Given the description of an element on the screen output the (x, y) to click on. 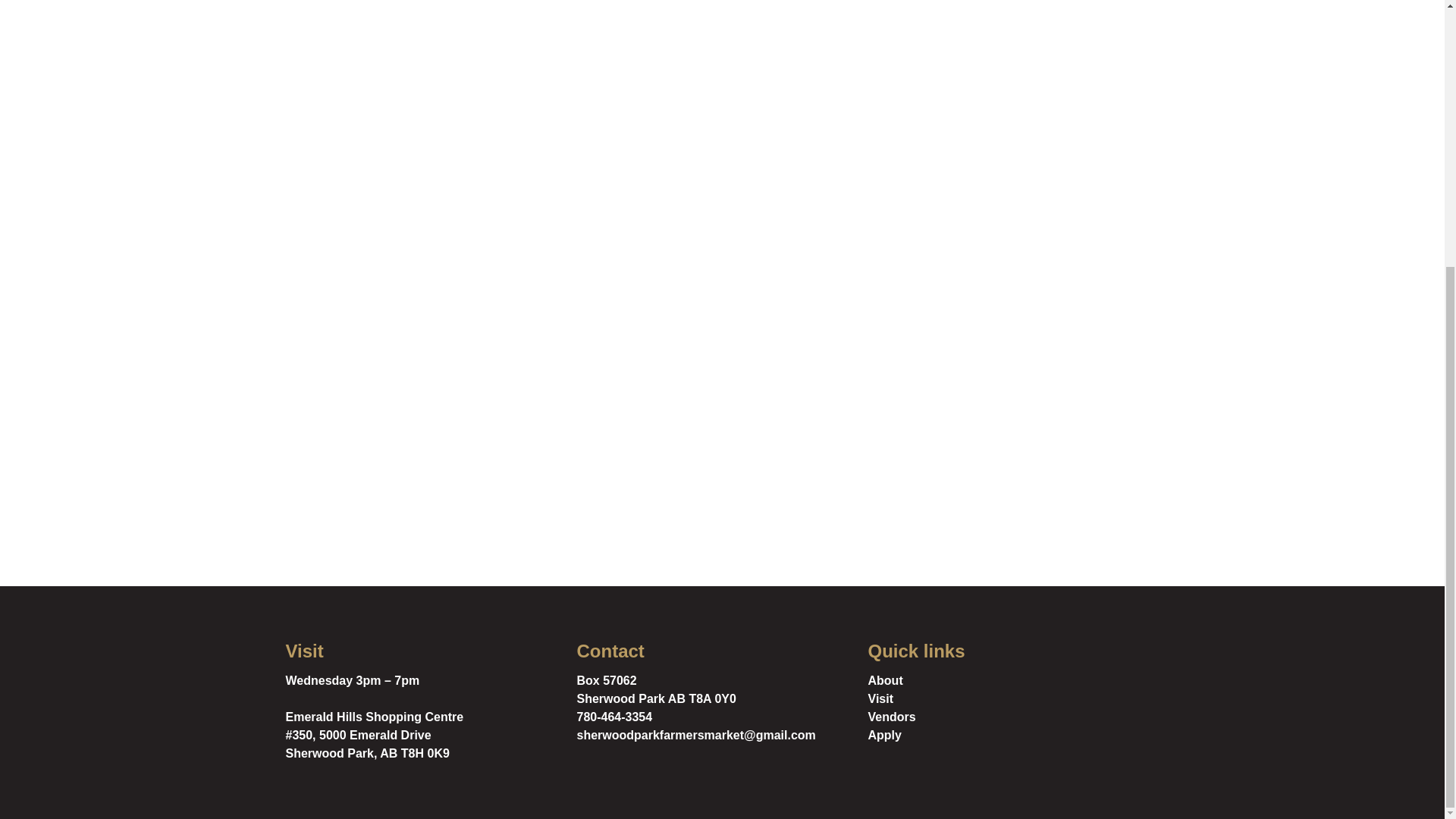
Apply (1012, 735)
About (1012, 680)
Vendors (1012, 717)
780-464-3354 (614, 716)
Visit (1012, 699)
